Given the description of an element on the screen output the (x, y) to click on. 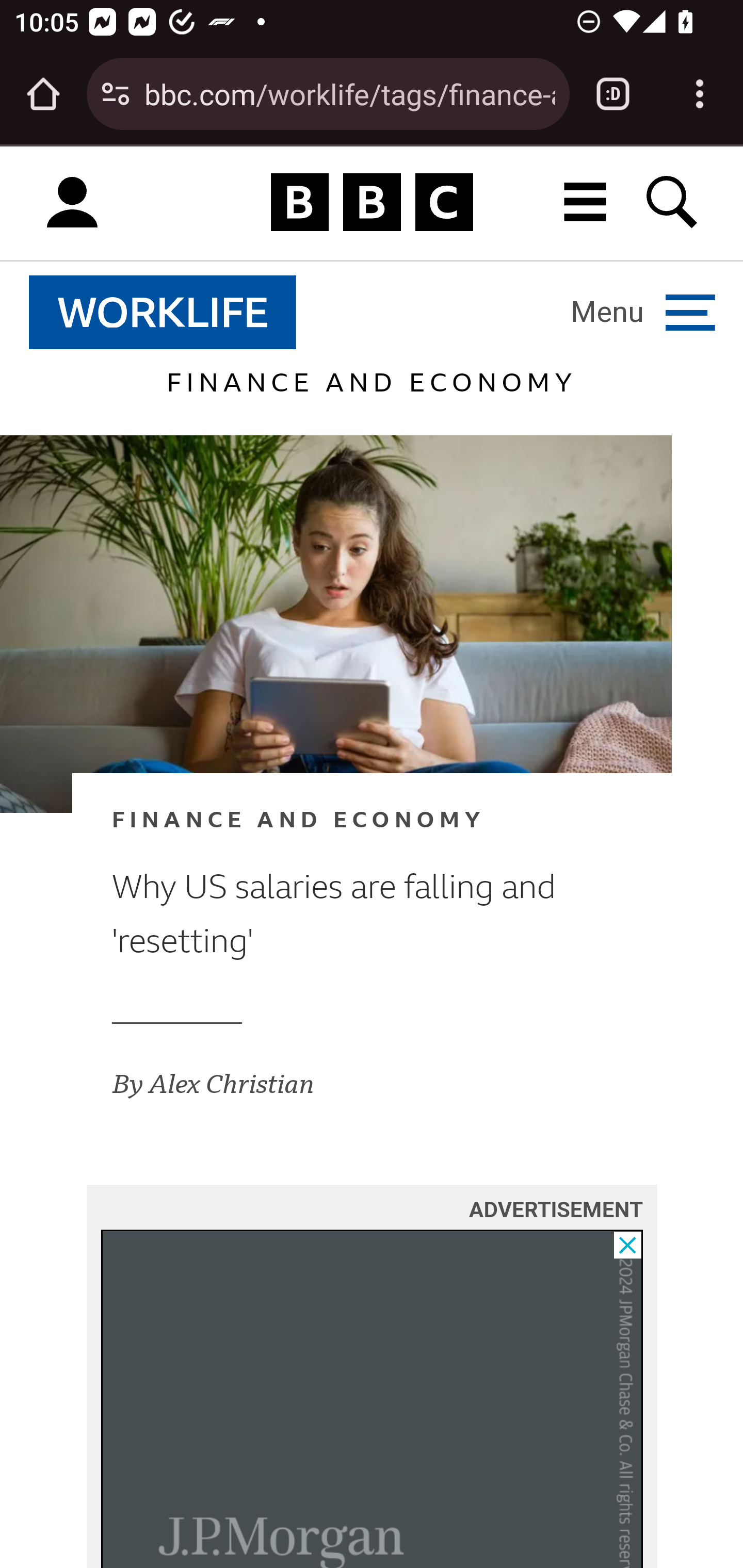
Open the home page (43, 93)
Connection is secure (115, 93)
Switch or close tabs (612, 93)
Customize and control Google Chrome (699, 93)
bbc.com/worklife/tags/finance-and-economy (349, 92)
All BBC destinations menu (585, 202)
Search BBC (672, 202)
Sign in (71, 203)
Homepage (371, 203)
Open more navigation (643, 311)
worklife (162, 311)
FINANCE AND ECONOMY (339, 819)
Why US salaries are falling and 'resetting' (339, 914)
